Given the description of an element on the screen output the (x, y) to click on. 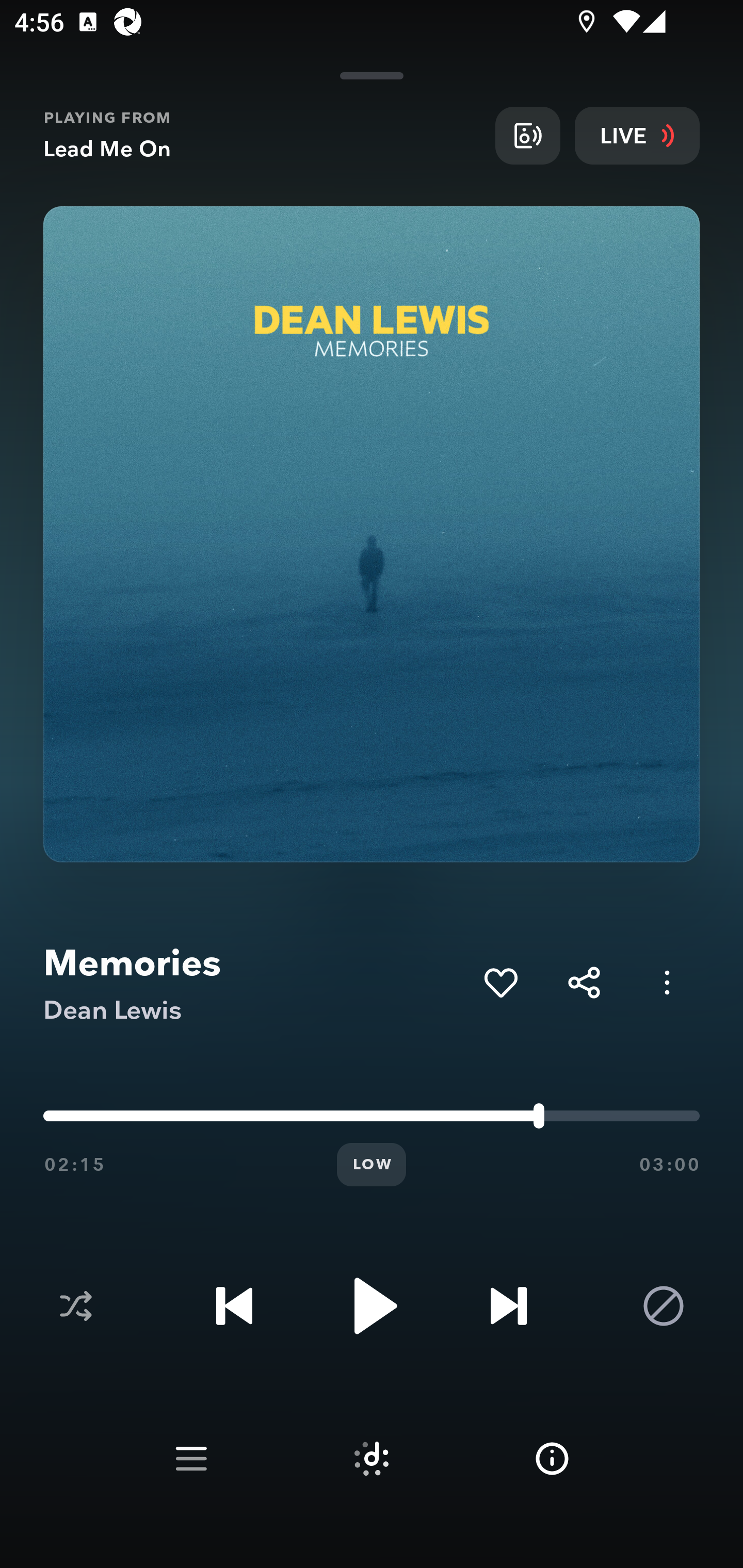
Broadcast (527, 135)
LIVE (637, 135)
PLAYING FROM Lead Me On (261, 135)
Memories Dean Lewis (255, 983)
Add to My Collection (500, 982)
Share (583, 982)
Options (666, 982)
LOW (371, 1164)
Play (371, 1306)
Previous (234, 1306)
Next (508, 1306)
Block (663, 1306)
Shuffle disabled (75, 1306)
Play queue (191, 1458)
Suggested tracks (371, 1458)
Info (551, 1458)
